Given the description of an element on the screen output the (x, y) to click on. 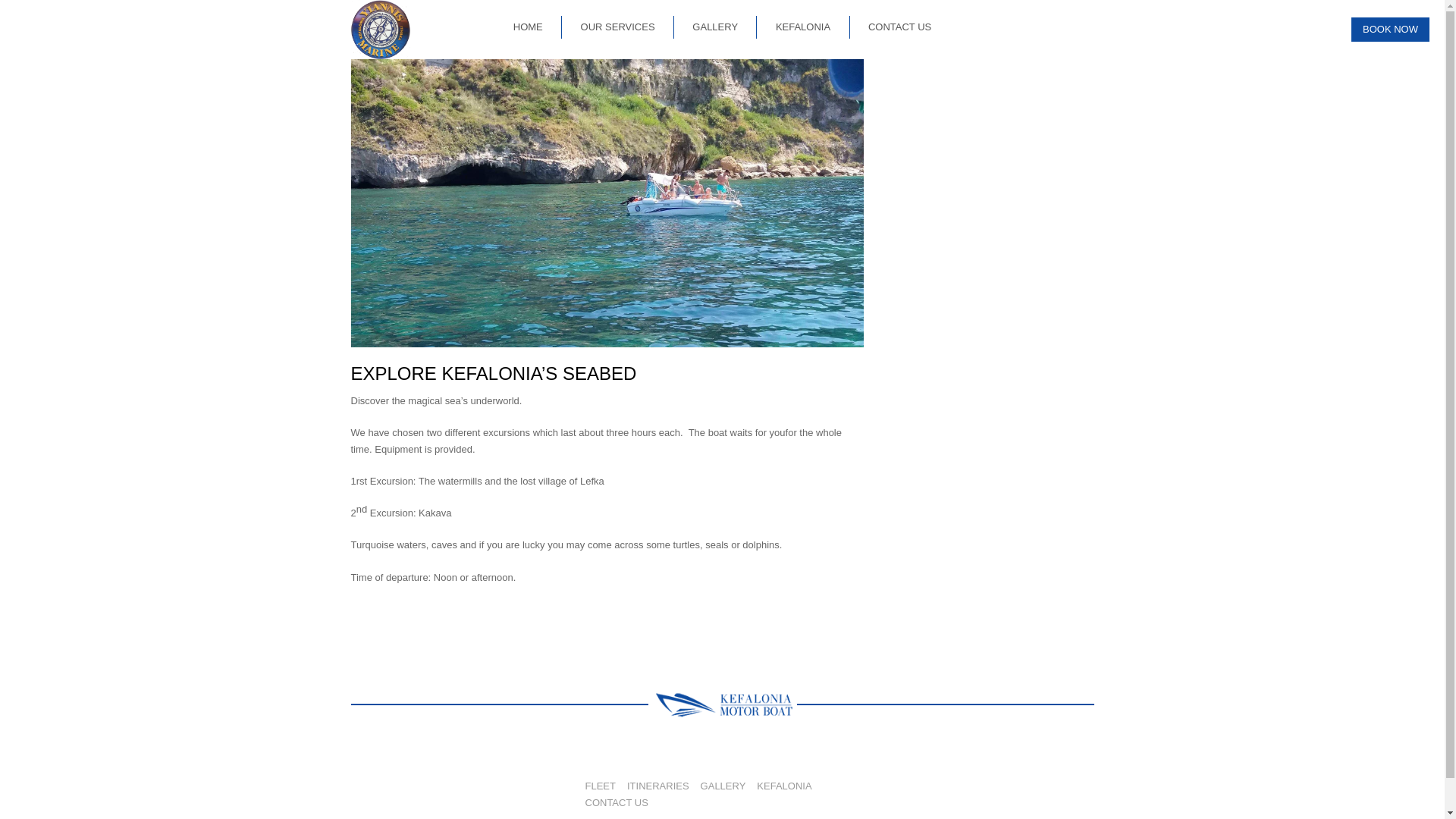
CONTACT US (899, 26)
KEFALONIA (783, 785)
CONTACT US (616, 802)
OUR SERVICES (617, 26)
BOOK NOW (1390, 29)
GALLERY (715, 26)
KEFALONIA (802, 26)
FLEET (600, 785)
GALLERY (722, 785)
HOME (527, 26)
